Given the description of an element on the screen output the (x, y) to click on. 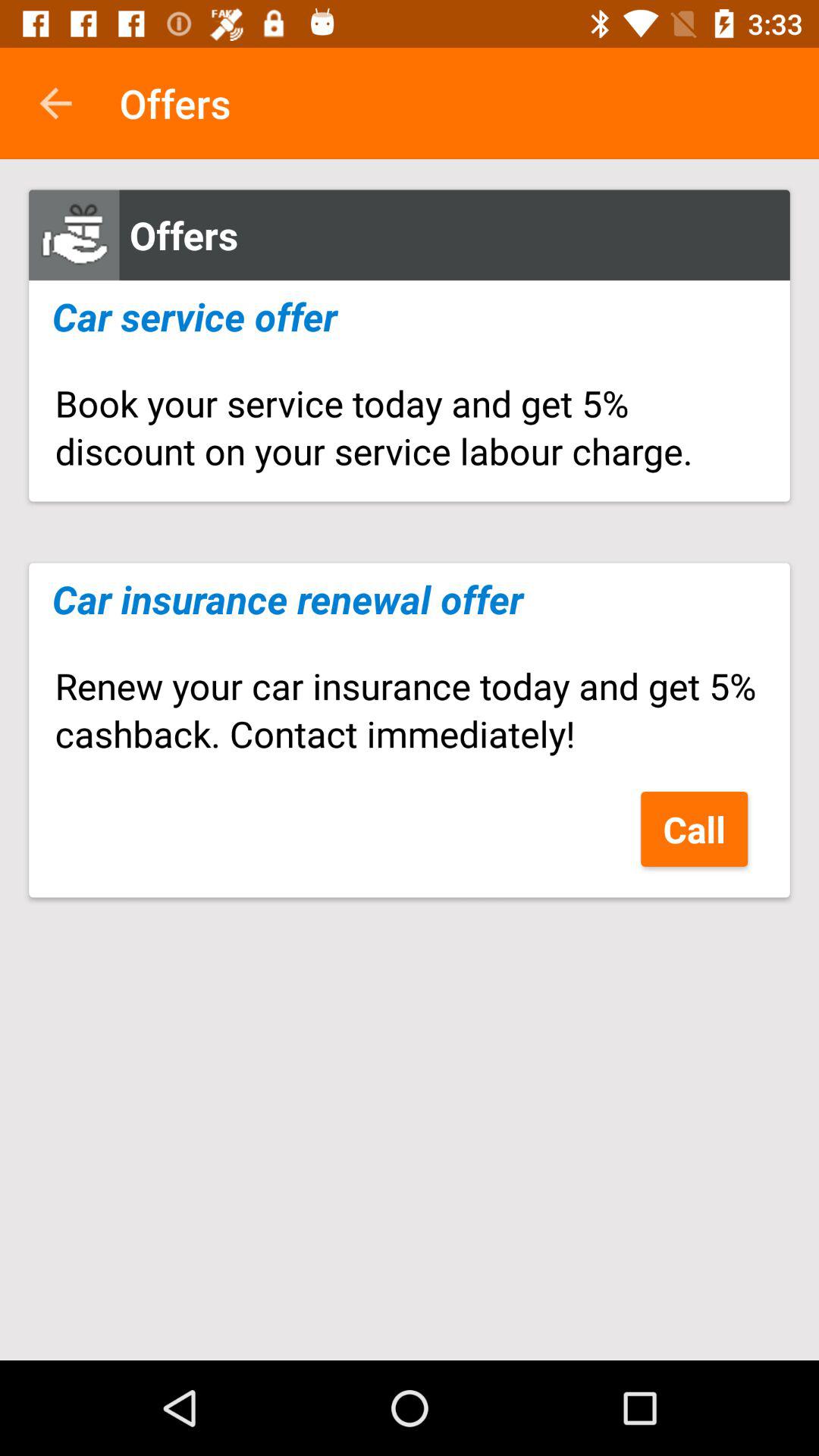
swipe until the  call  item (693, 828)
